Given the description of an element on the screen output the (x, y) to click on. 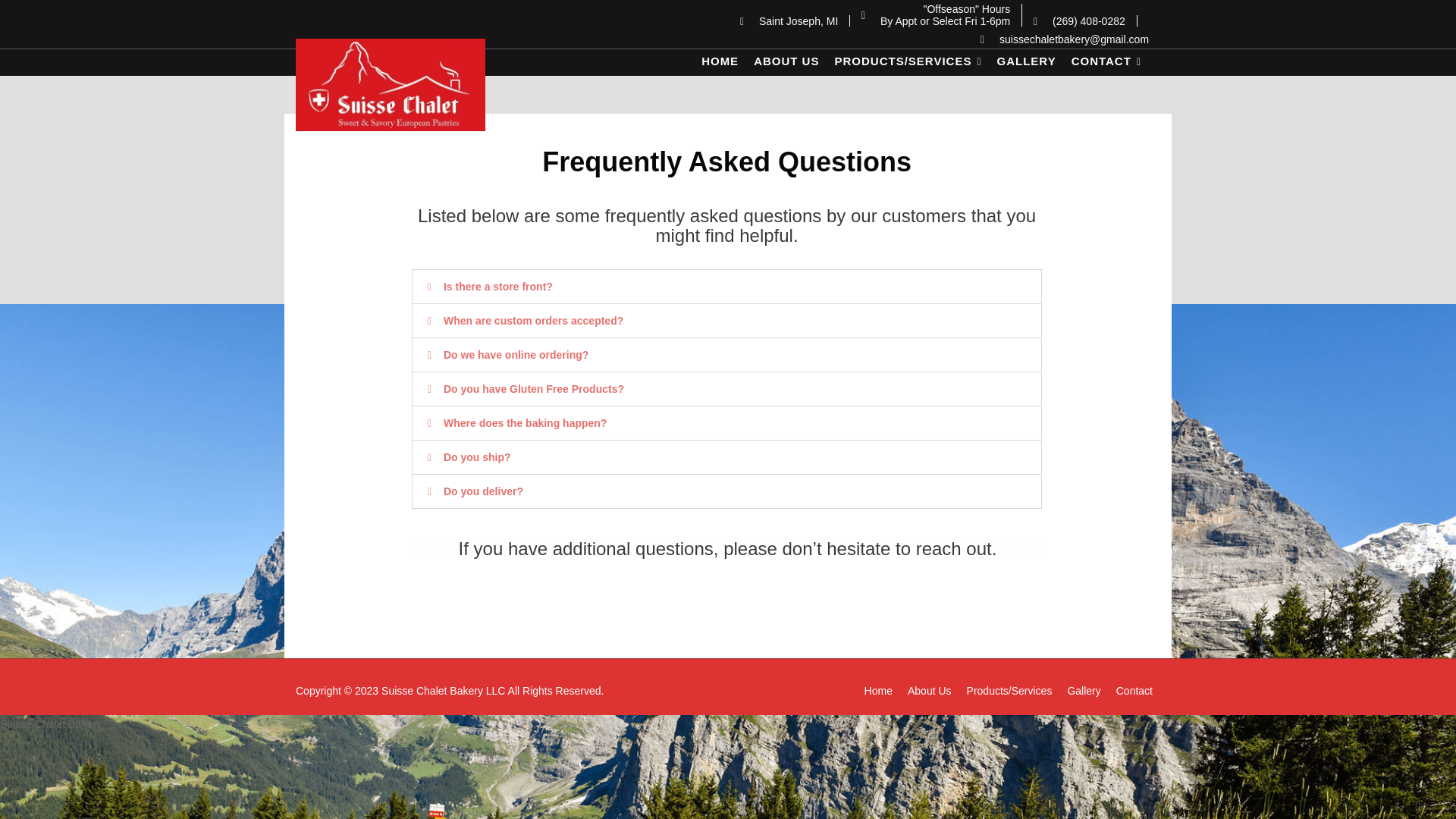
Do you ship? (477, 457)
Suisse Chalet Bakery, LLC (405, 142)
When are custom orders accepted? (533, 320)
Contact (1134, 690)
Do we have online ordering? (516, 354)
About Us (929, 690)
Home (878, 690)
CONTACT (1106, 61)
Is there a store front? (498, 286)
Gallery (1083, 690)
